Given the description of an element on the screen output the (x, y) to click on. 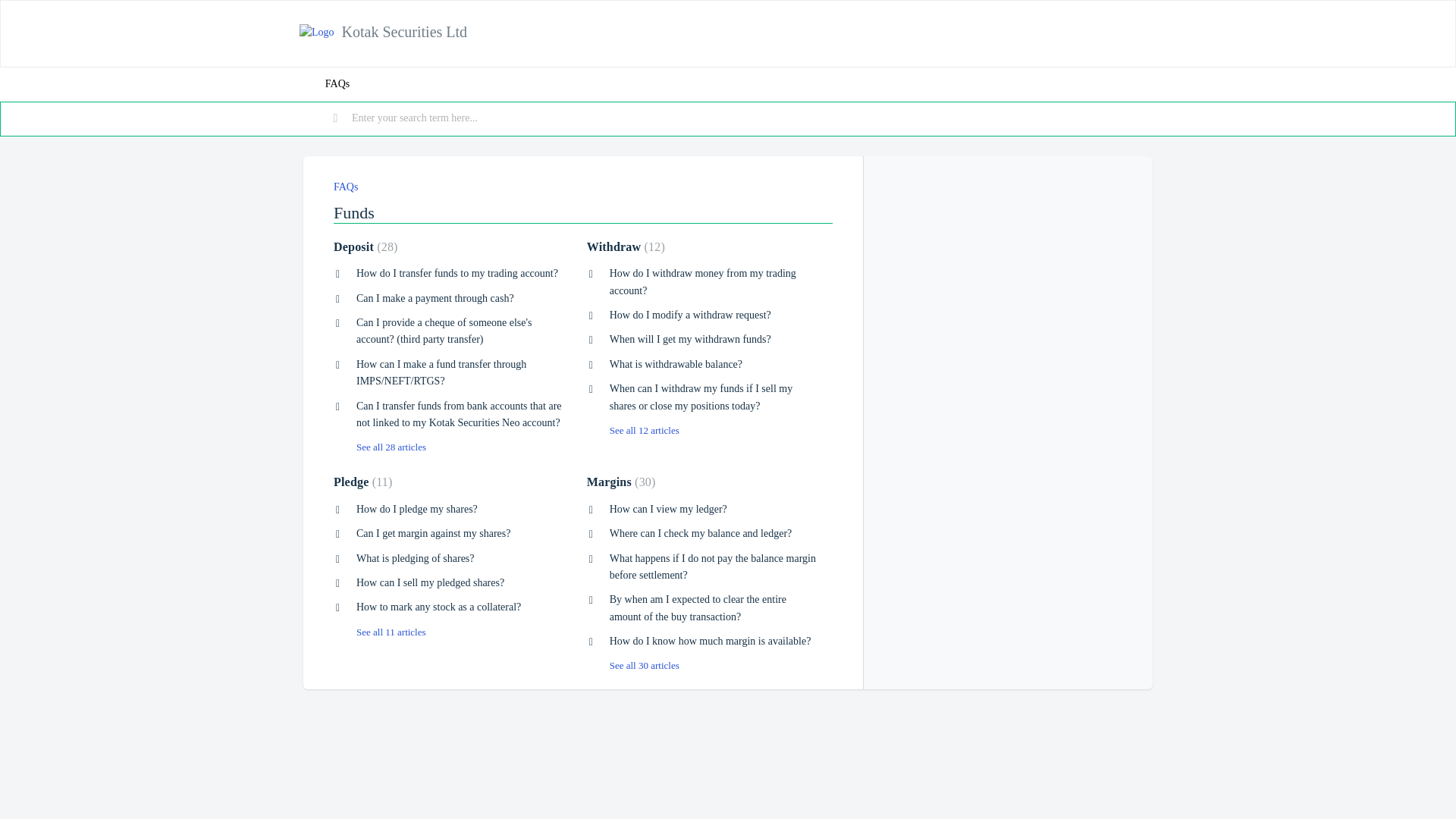
When will I get my withdrawn funds? (690, 338)
Can I get margin against my shares? (433, 532)
See all 11 articles (379, 632)
How can I sell my pledged shares? (429, 582)
How to mark any stock as a collateral? (438, 606)
Withdraw (625, 246)
Where can I check my balance and ledger? (701, 532)
How do I withdraw money from my trading account? (703, 281)
What is withdrawable balance? (676, 364)
